Given the description of an element on the screen output the (x, y) to click on. 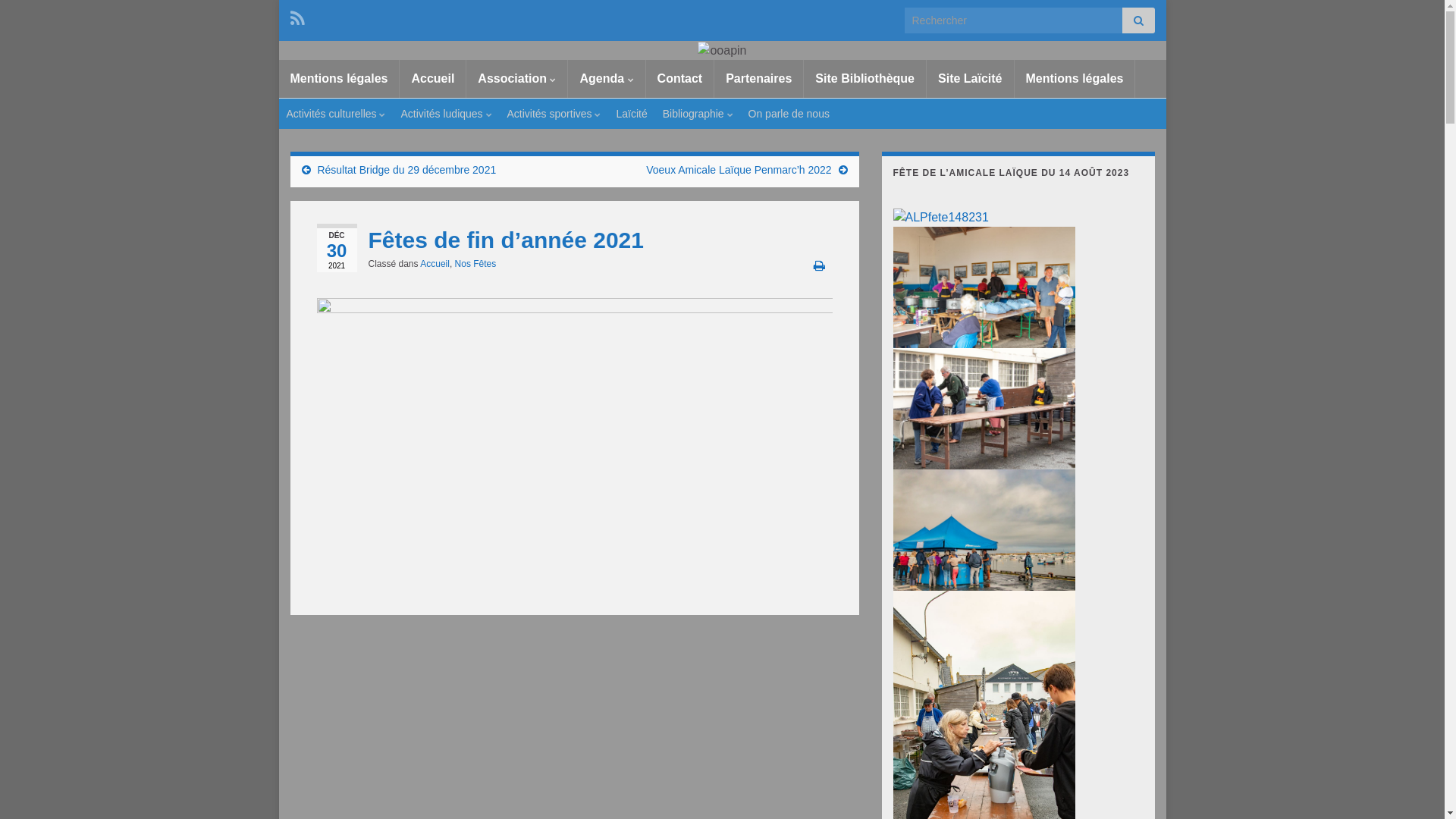
  Element type: hover (984, 725)
Bibliographie Element type: text (697, 113)
ooapin Element type: hover (721, 50)
  Element type: text (722, 49)
ALPfete148234 Element type: hover (984, 529)
Accueil Element type: text (434, 263)
  Element type: hover (984, 407)
Partenaires Element type: text (758, 78)
ALPfete148233 Element type: hover (984, 408)
Association Element type: text (516, 78)
  Element type: hover (940, 216)
ALPfete148232 Element type: hover (984, 287)
Contact Element type: text (680, 78)
ALPfete148231 Element type: hover (940, 217)
Suivre le fil RSS de  Element type: hover (296, 16)
  Element type: hover (984, 285)
Agenda Element type: text (605, 78)
Accueil Element type: text (432, 78)
Imprimer ceci article Element type: hover (818, 265)
On parle de nous Element type: text (788, 113)
  Element type: hover (984, 528)
